Given the description of an element on the screen output the (x, y) to click on. 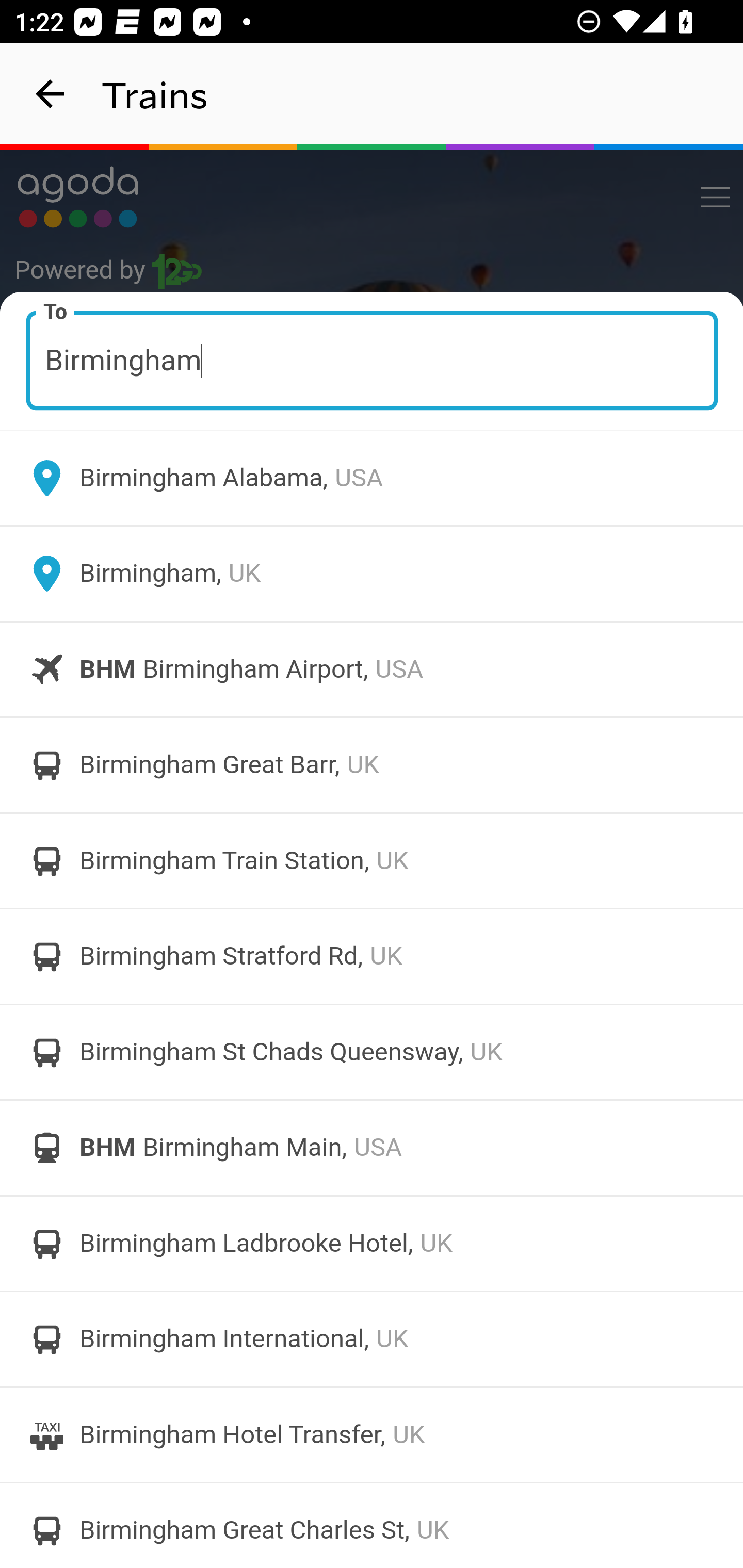
navigation_button (50, 93)
Birmingham (372, 359)
Birmingham Alabama,USA (371, 477)
Birmingham,UK (371, 573)
BHM Birmingham Airport , USA (371, 669)
Birmingham Great Barr,UK (371, 764)
Birmingham Train Station,UK (371, 860)
Birmingham Stratford Rd,UK (371, 956)
Birmingham St Chads Queensway,UK (371, 1051)
BHM Birmingham Main , USA (371, 1147)
Birmingham Ladbrooke Hotel,UK (371, 1243)
Birmingham International,UK (371, 1339)
Birmingham Hotel Transfer,UK (371, 1434)
Birmingham Great Charles St,UK (371, 1524)
